Given the description of an element on the screen output the (x, y) to click on. 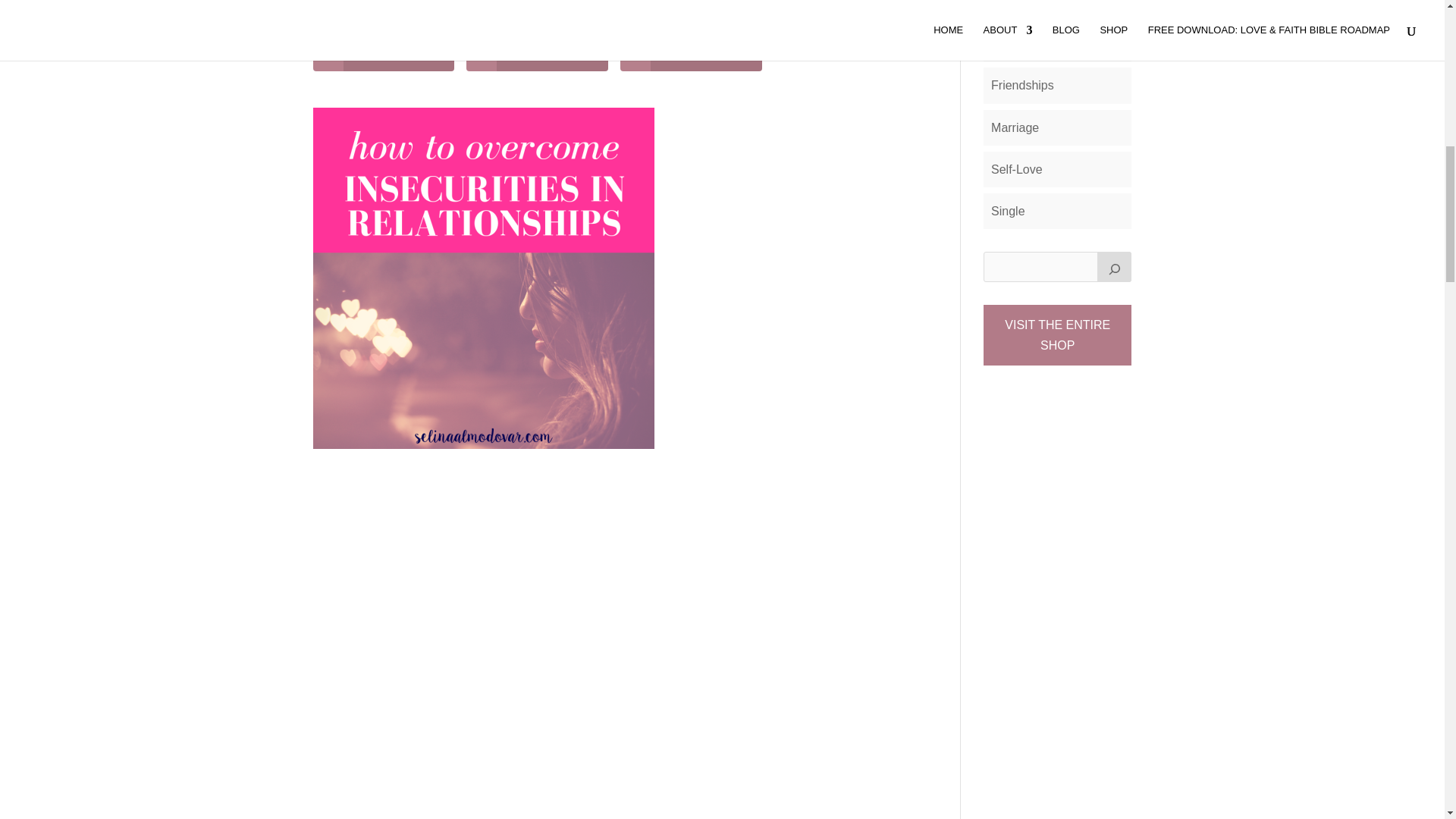
Marriage (1015, 127)
VISIT THE ENTIRE SHOP (1057, 334)
Pin It (536, 55)
Friendships (1022, 84)
Share It (383, 55)
Single (1008, 210)
Featured Posts (1032, 42)
Faith (1004, 4)
Tweet It (690, 55)
Self-Love (1016, 169)
